Given the description of an element on the screen output the (x, y) to click on. 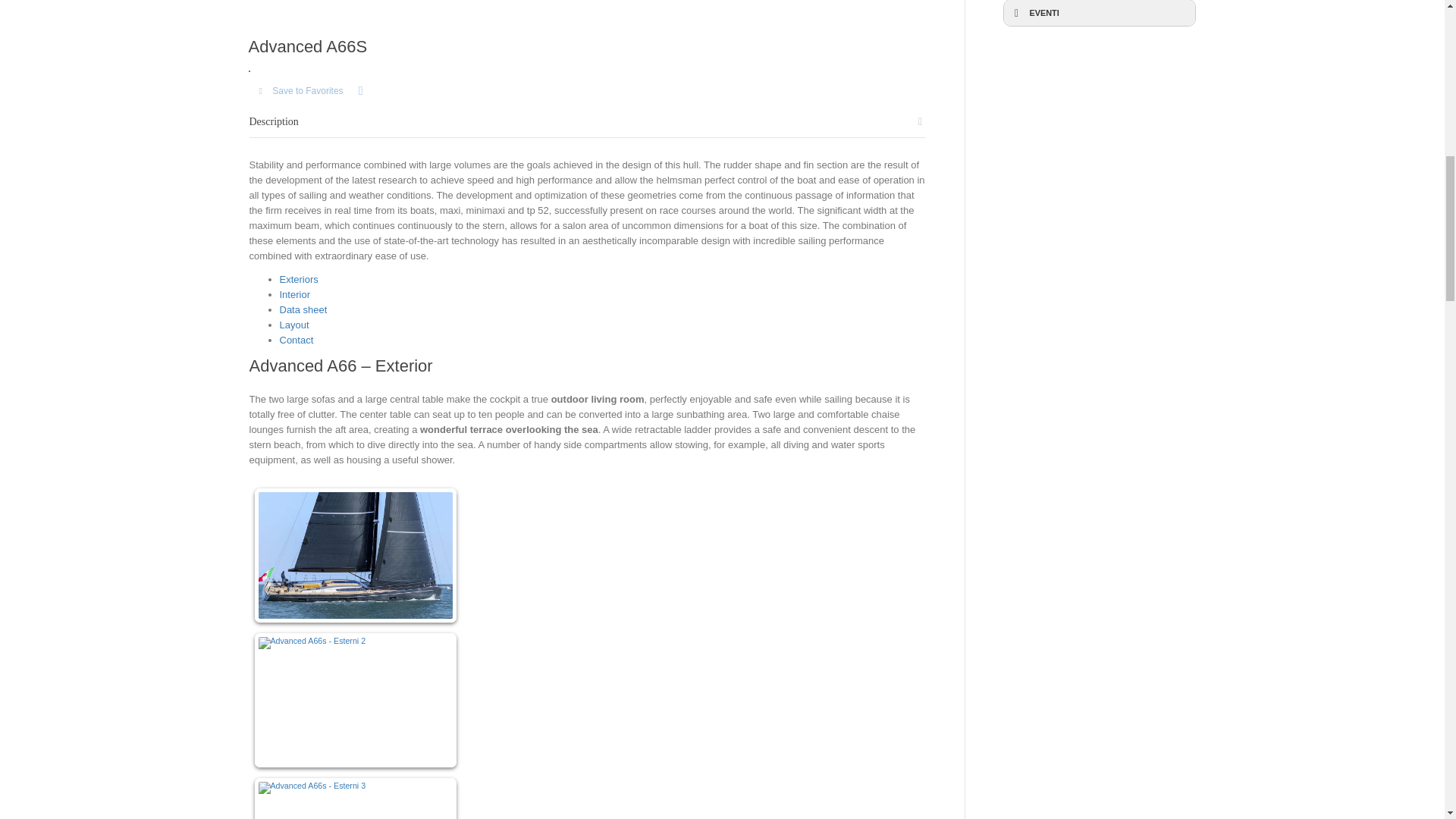
Exteriors (298, 279)
Contact (296, 339)
Save to Favorites (301, 90)
Interior (293, 294)
Data sheet (302, 309)
Description (273, 121)
Layout (293, 324)
